Given the description of an element on the screen output the (x, y) to click on. 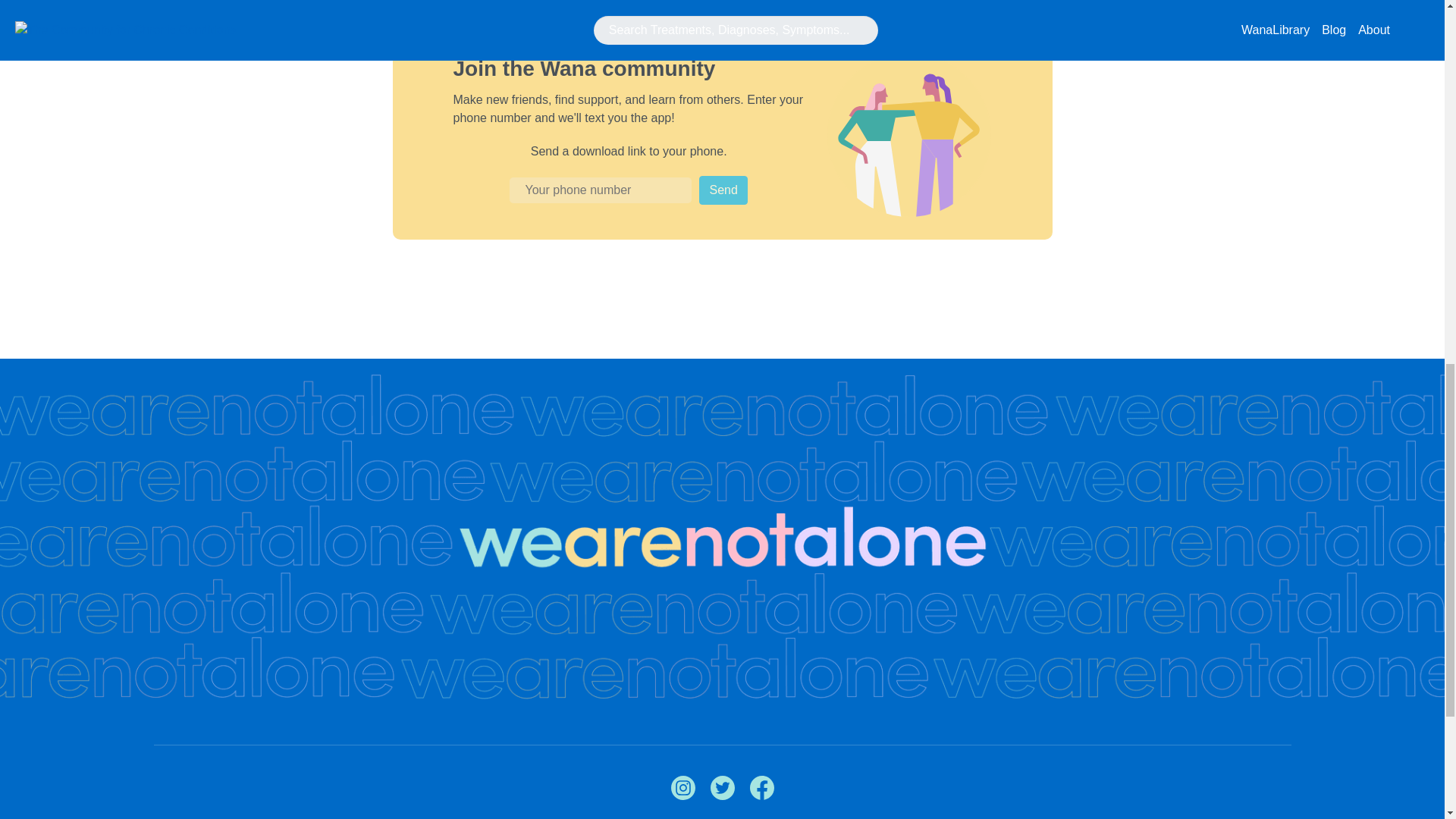
Send (722, 190)
